Given the description of an element on the screen output the (x, y) to click on. 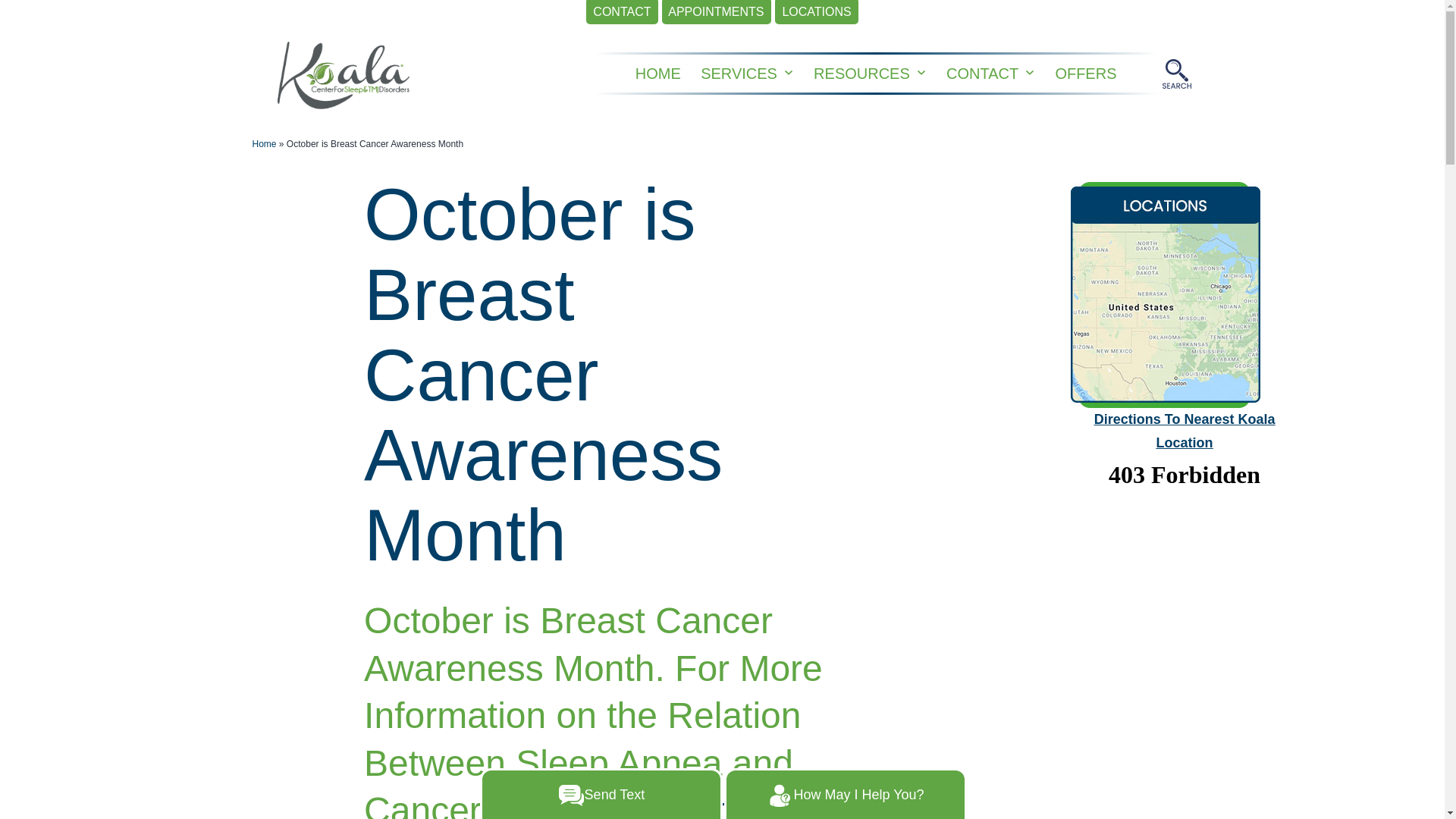
APPOINTMENTS (716, 12)
RESOURCES (861, 72)
CONTACT (982, 72)
SERVICES (738, 72)
LOCATIONS (816, 12)
CONTACT (622, 12)
HOME (658, 72)
